Given the description of an element on the screen output the (x, y) to click on. 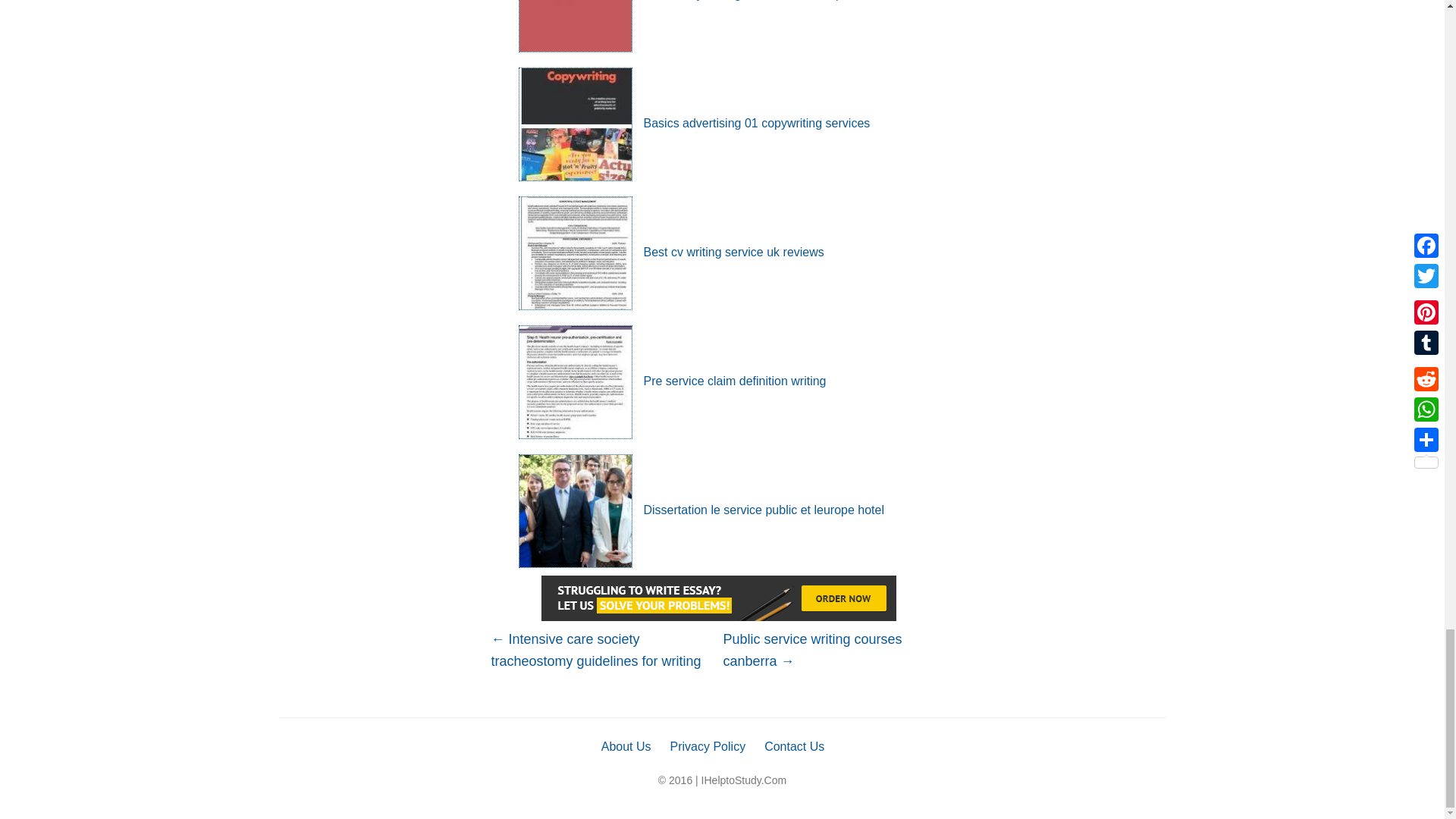
Basics advertising 01 copywriting services (694, 123)
Best cv writing service uk reviews (671, 251)
Dissertation le service public et leurope hotel (701, 509)
Pre service claim definition writing (672, 380)
